Given the description of an element on the screen output the (x, y) to click on. 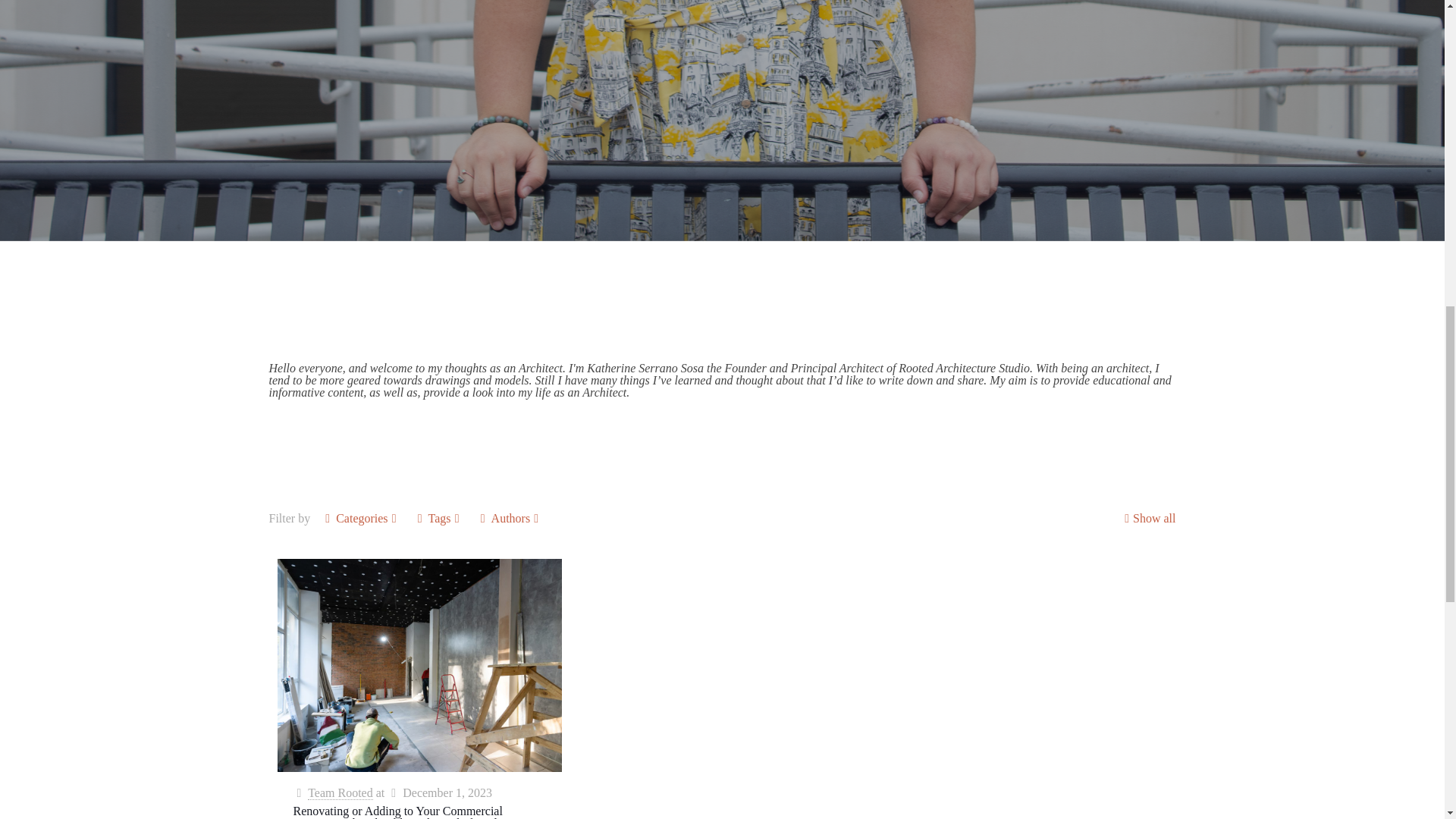
Show all (1147, 517)
Authors (510, 517)
Categories (361, 517)
Tags (439, 517)
